Given the description of an element on the screen output the (x, y) to click on. 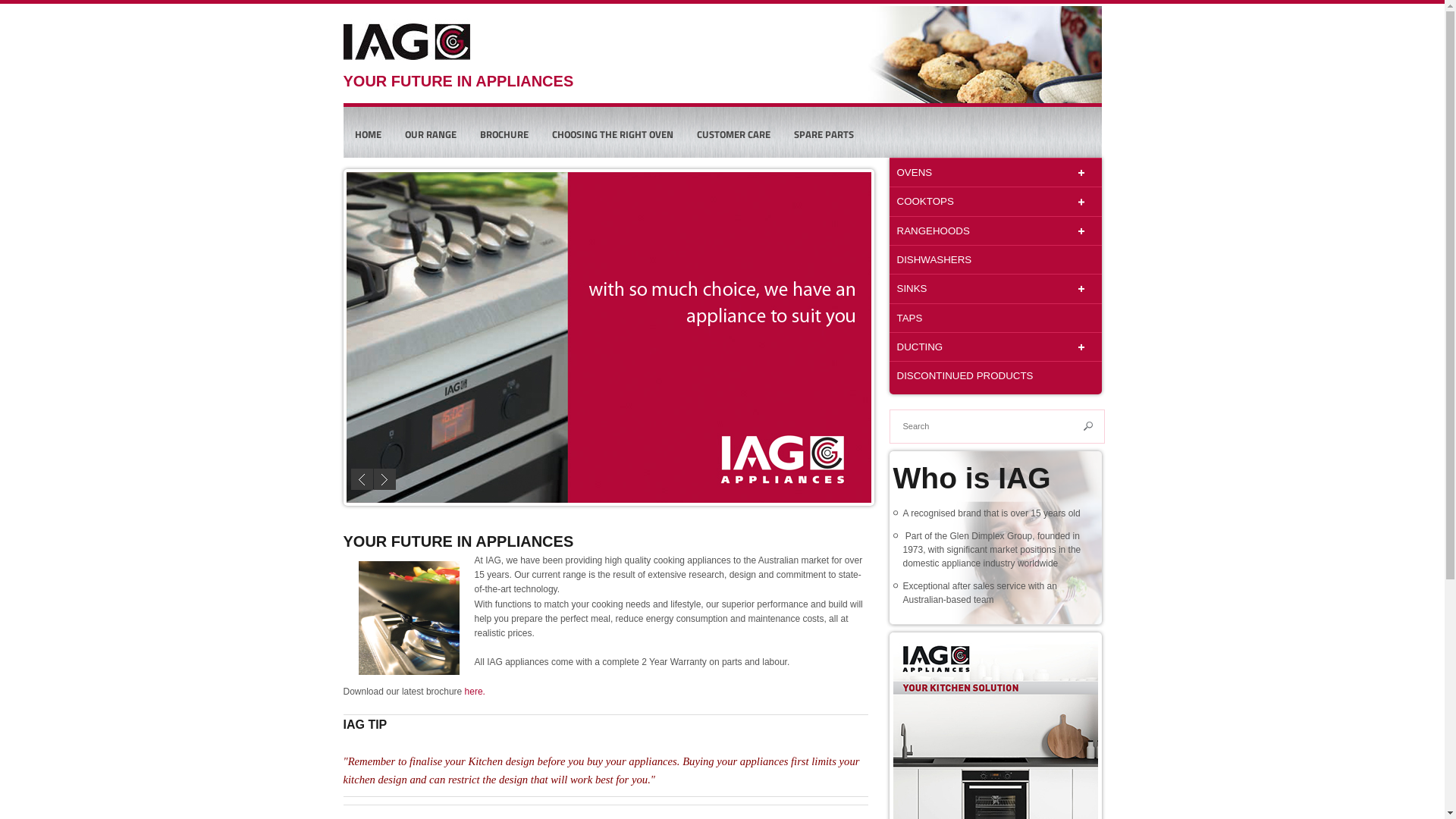
CUSTOMER CARE Element type: text (733, 133)
TAPS Element type: text (994, 317)
COOKTOPS Element type: text (994, 200)
BROCHURE Element type: text (503, 133)
HOME Element type: text (367, 133)
Search Element type: hover (1088, 425)
here. Element type: text (474, 691)
YOUR FUTURE IN APPLIANCES Element type: text (481, 70)
DISHWASHERS Element type: text (994, 258)
DISCONTINUED PRODUCTS Element type: text (994, 374)
SINKS Element type: text (994, 287)
DUCTING Element type: text (994, 346)
OVENS Element type: text (994, 171)
RANGEHOODS Element type: text (994, 230)
Next Element type: text (384, 478)
Search Element type: text (1088, 425)
OUR RANGE Element type: text (429, 133)
SPARE PARTS Element type: text (823, 133)
CHOOSING THE RIGHT OVEN Element type: text (611, 133)
Logo Element type: hover (406, 43)
Previous Element type: text (361, 478)
